Given the description of an element on the screen output the (x, y) to click on. 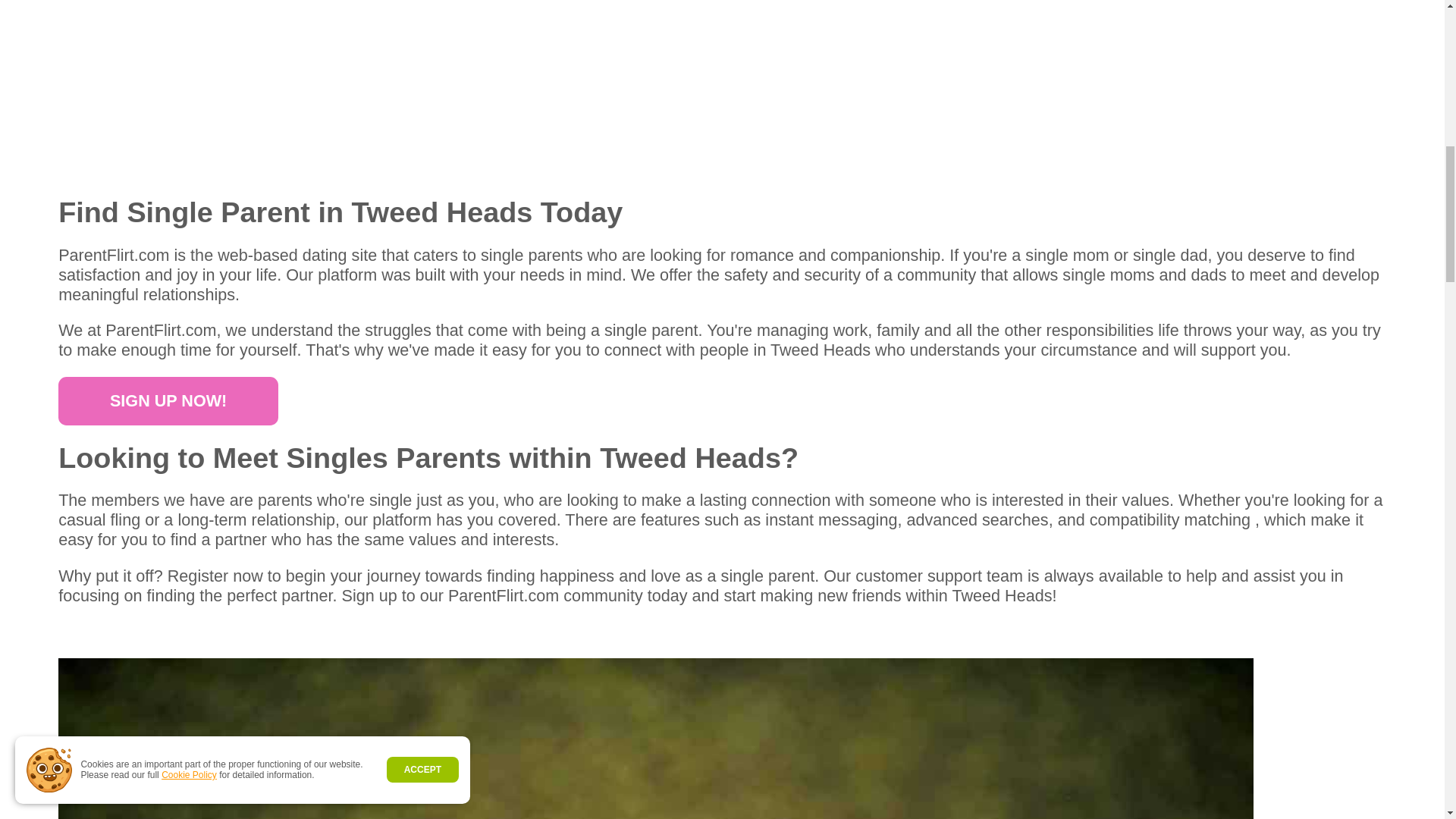
SIGN UP NOW! (168, 400)
